Given the description of an element on the screen output the (x, y) to click on. 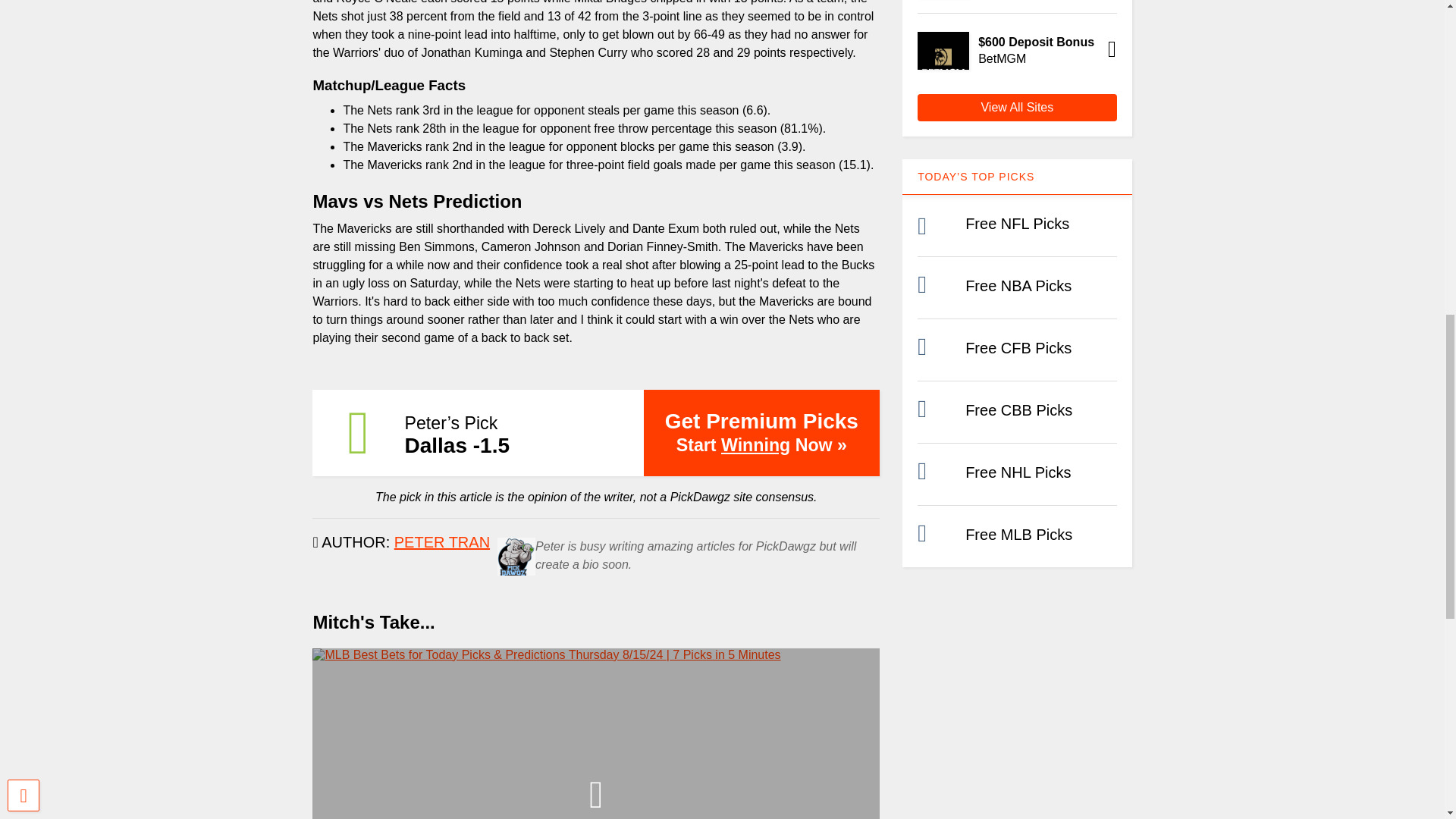
Free NBA Picks (1018, 285)
Free NFL Picks (1016, 223)
Free CBB Picks (1018, 410)
Free NHL Picks (1017, 472)
author profile (441, 541)
Free CFB Picks (1018, 347)
Free MLB Picks (1018, 534)
